Given the description of an element on the screen output the (x, y) to click on. 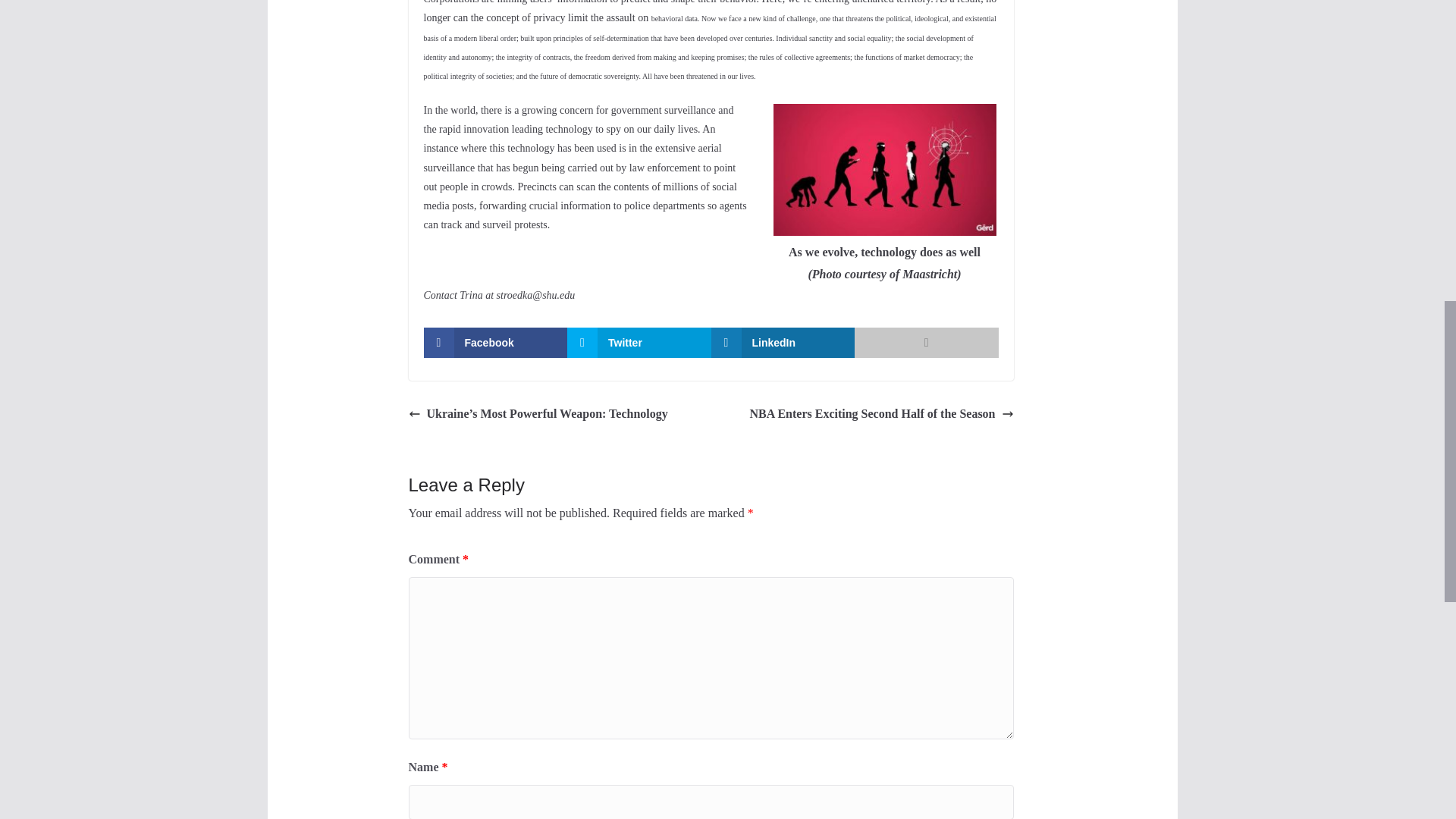
NBA Enters Exciting Second Half of the Season (881, 414)
LinkedIn (783, 342)
Facebook (495, 342)
Twitter (639, 342)
